Given the description of an element on the screen output the (x, y) to click on. 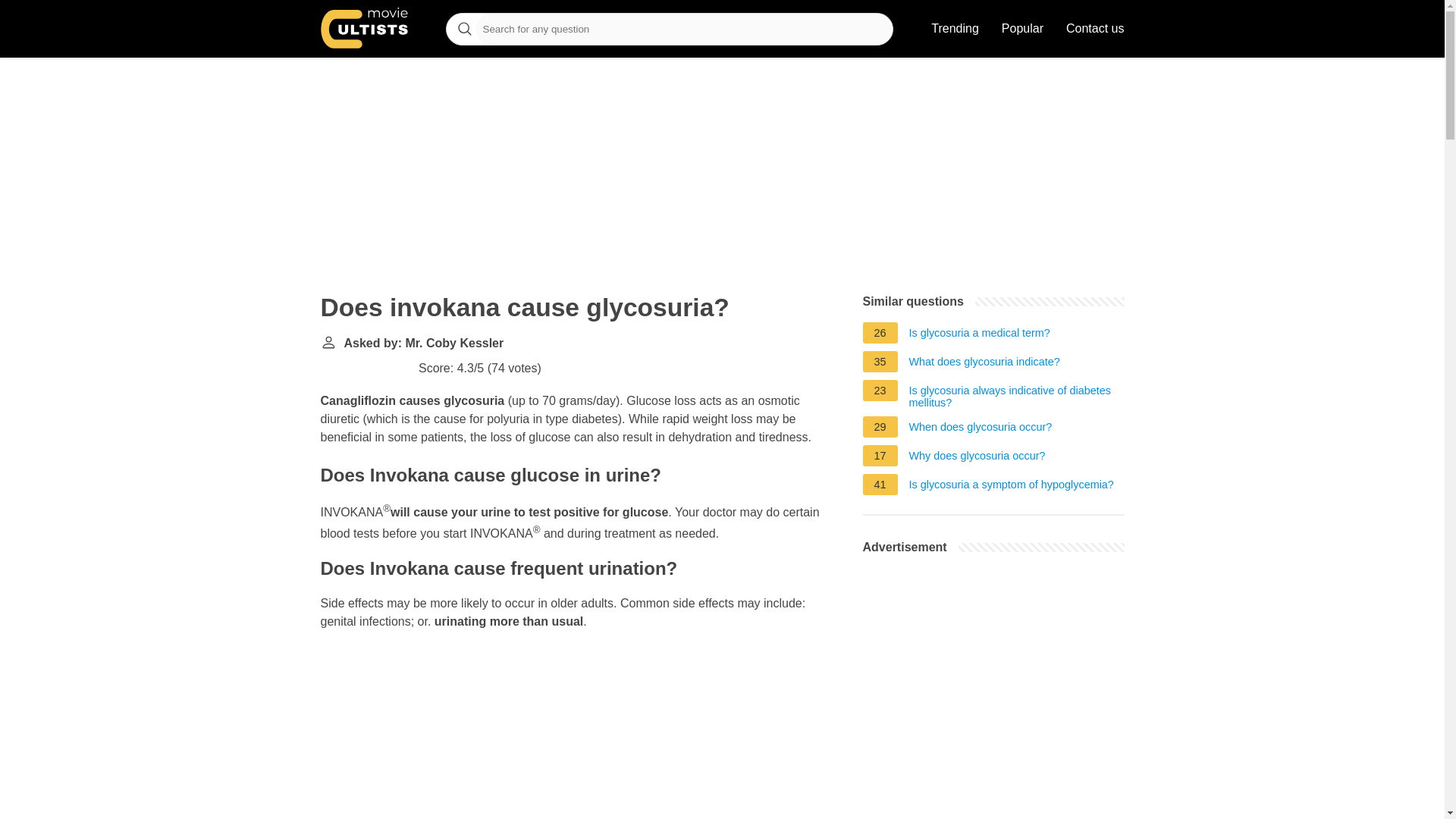
When does glycosuria occur? (980, 428)
Is glycosuria a medical term? (978, 334)
Why does glycosuria occur? (976, 457)
Is glycosuria a symptom of hypoglycemia? (1010, 486)
Popular (1022, 28)
Trending (954, 28)
What does glycosuria indicate? (983, 363)
Is glycosuria always indicative of diabetes mellitus? (1016, 396)
Contact us (1094, 28)
